Given the description of an element on the screen output the (x, y) to click on. 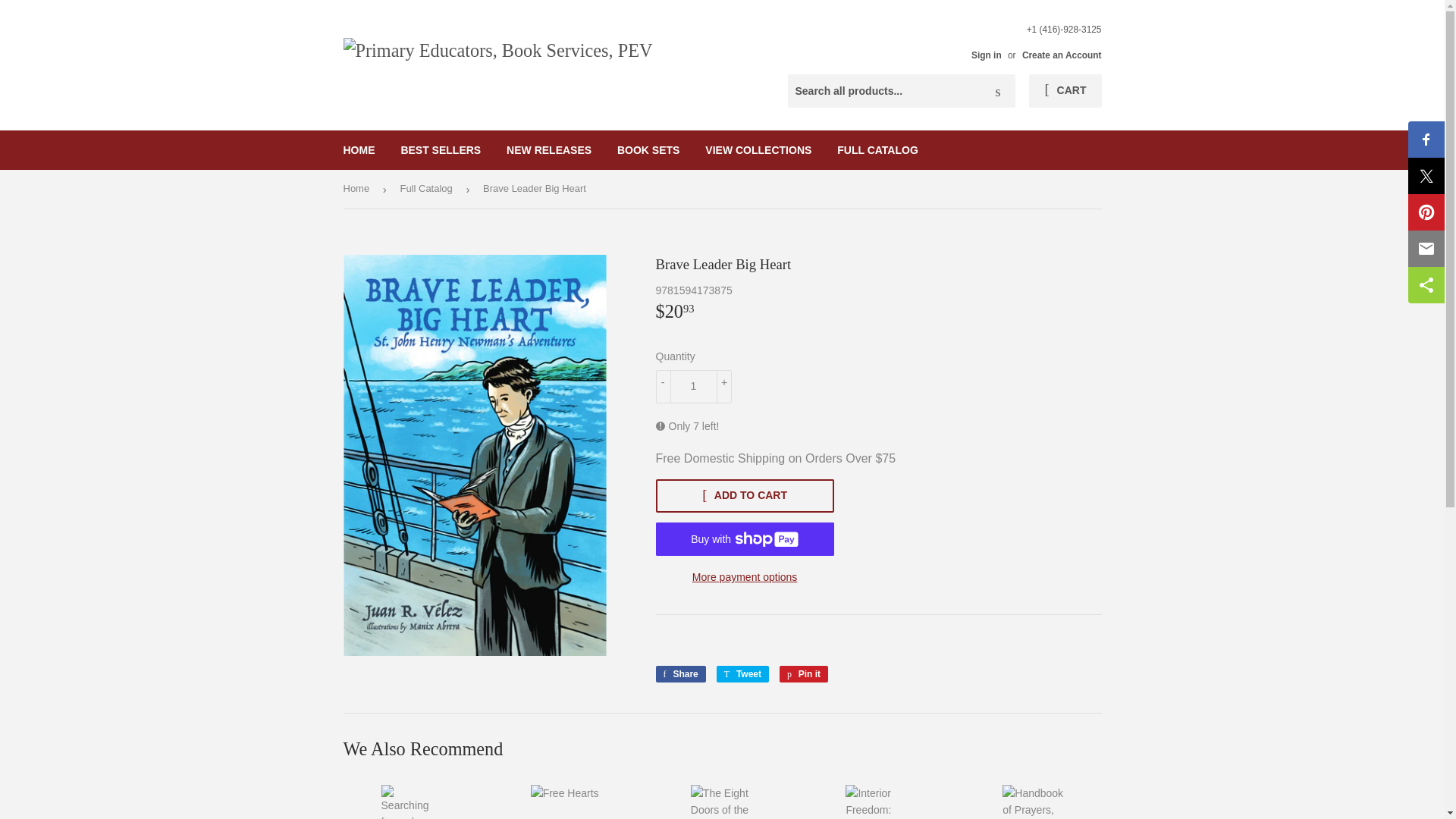
FULL CATALOG (877, 149)
Create an Account (1062, 54)
Full Catalog (427, 188)
Sign in (803, 673)
VIEW COLLECTIONS (986, 54)
BEST SELLERS (758, 149)
HOME (440, 149)
Pin on Pinterest (359, 149)
CART (803, 673)
Tweet on Twitter (1064, 90)
1 (742, 673)
BOOK SETS (742, 673)
NEW RELEASES (692, 386)
